Given the description of an element on the screen output the (x, y) to click on. 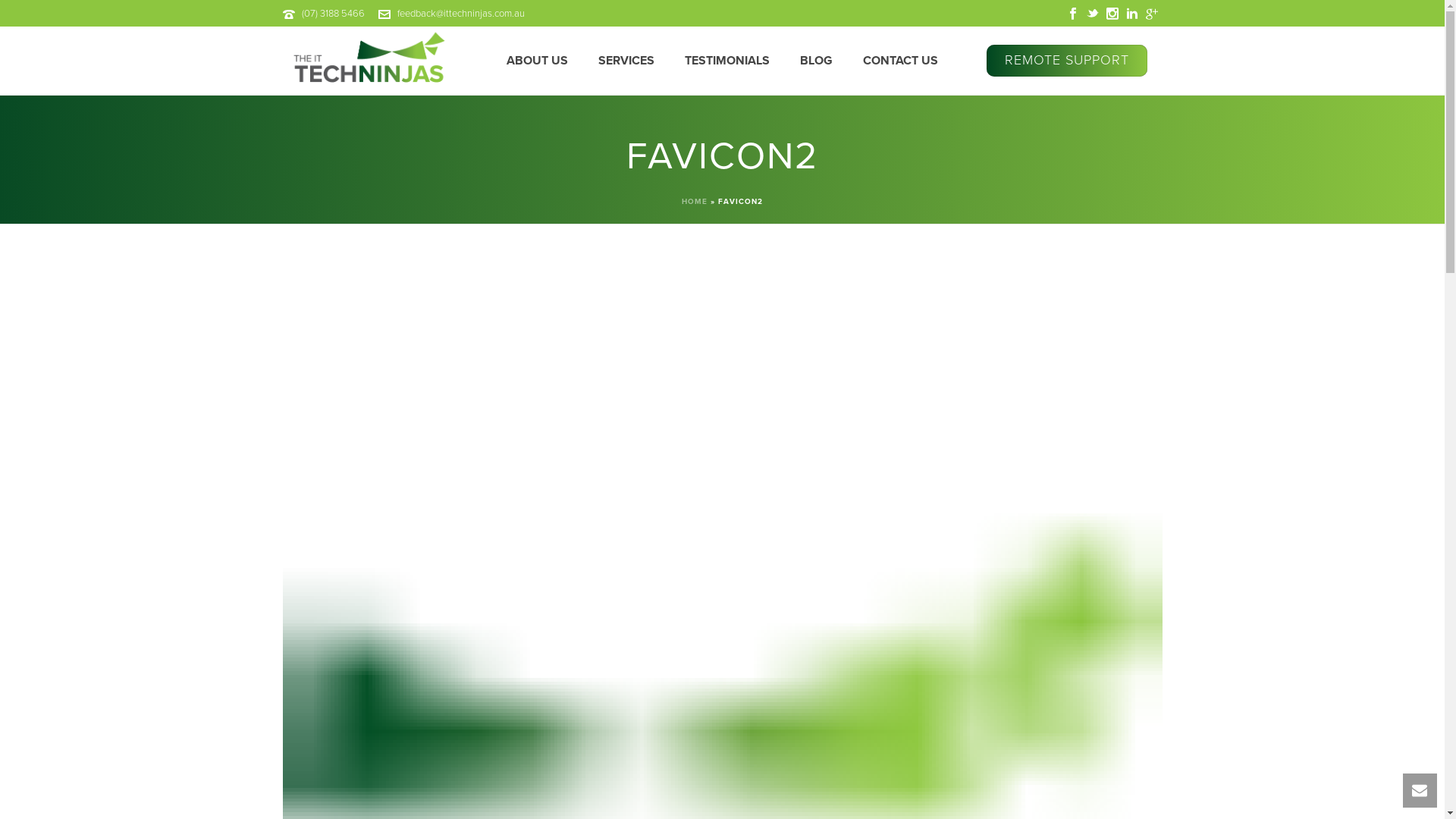
CONTACT US Element type: text (900, 60)
BLOG Element type: text (815, 60)
feedback@ittechninjas.com.au Element type: text (460, 13)
A reliable IT partner you can trust! Element type: hover (366, 60)
TESTIMONIALS Element type: text (726, 60)
HOME Element type: text (694, 201)
REMOTE SUPPORT Element type: text (1065, 60)
ABOUT US Element type: text (537, 60)
SERVICES Element type: text (626, 60)
(07) 3188 5466 Element type: text (332, 13)
